Given the description of an element on the screen output the (x, y) to click on. 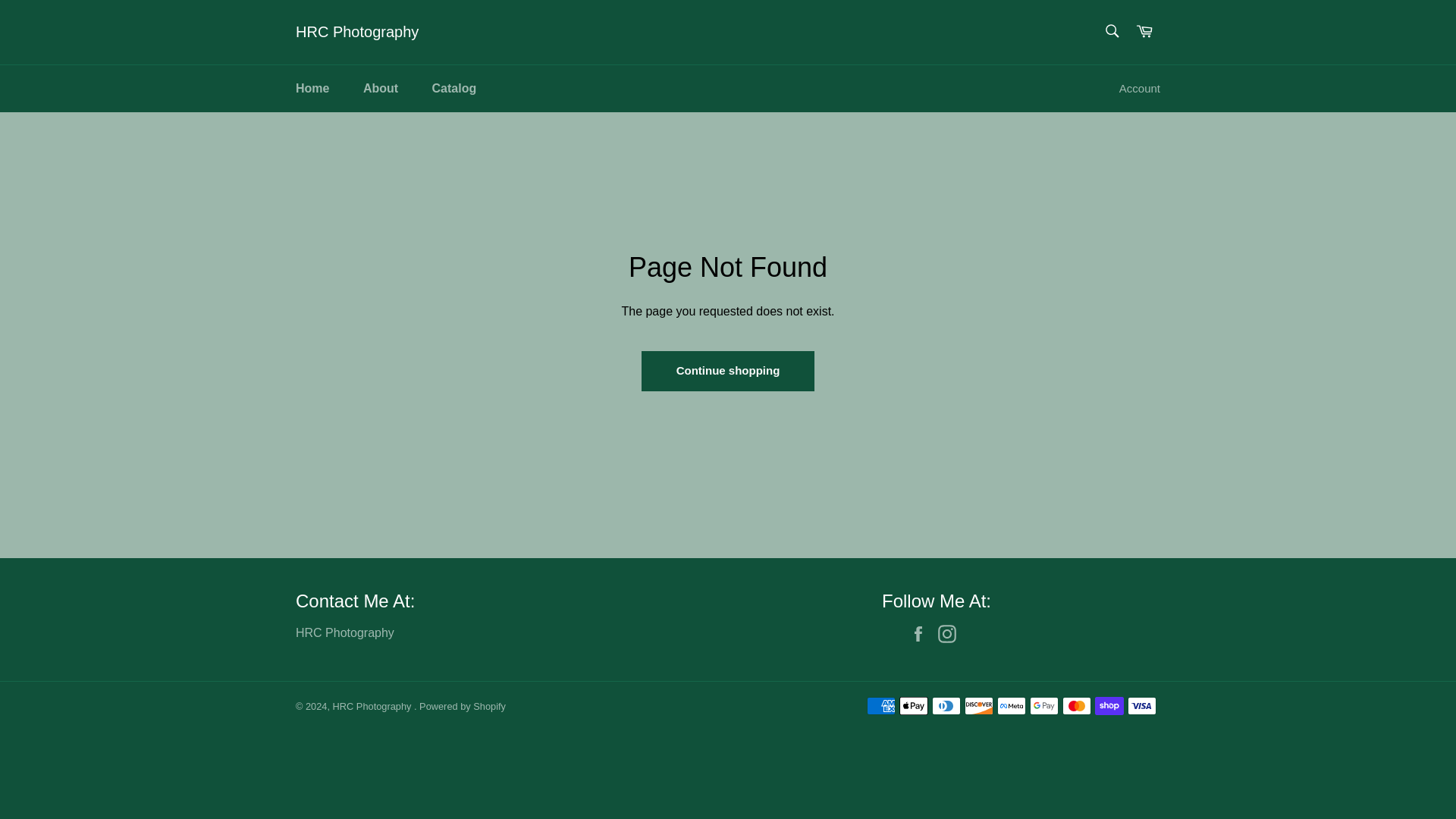
HRC Photography (344, 632)
About (380, 88)
Search (1111, 30)
Cart (1144, 32)
HRC Photography (373, 706)
Facebook (921, 633)
Instagram (950, 633)
HRC Photography  on Instagram (950, 633)
HRC Photography (357, 32)
HRC Photography  on Facebook (921, 633)
